Given the description of an element on the screen output the (x, y) to click on. 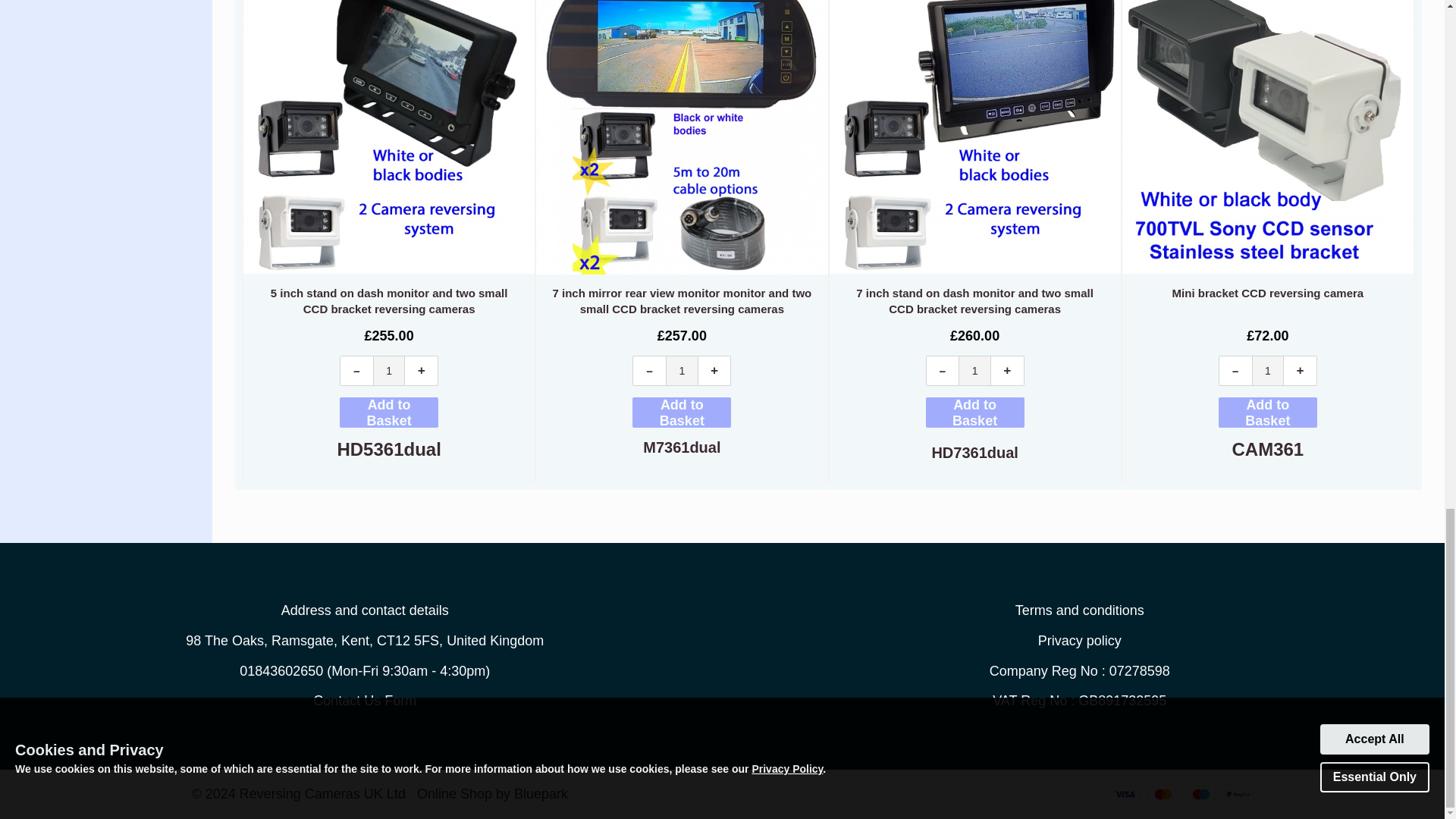
1 (681, 370)
1 (389, 370)
1 (1268, 370)
1 (974, 370)
